Given the description of an element on the screen output the (x, y) to click on. 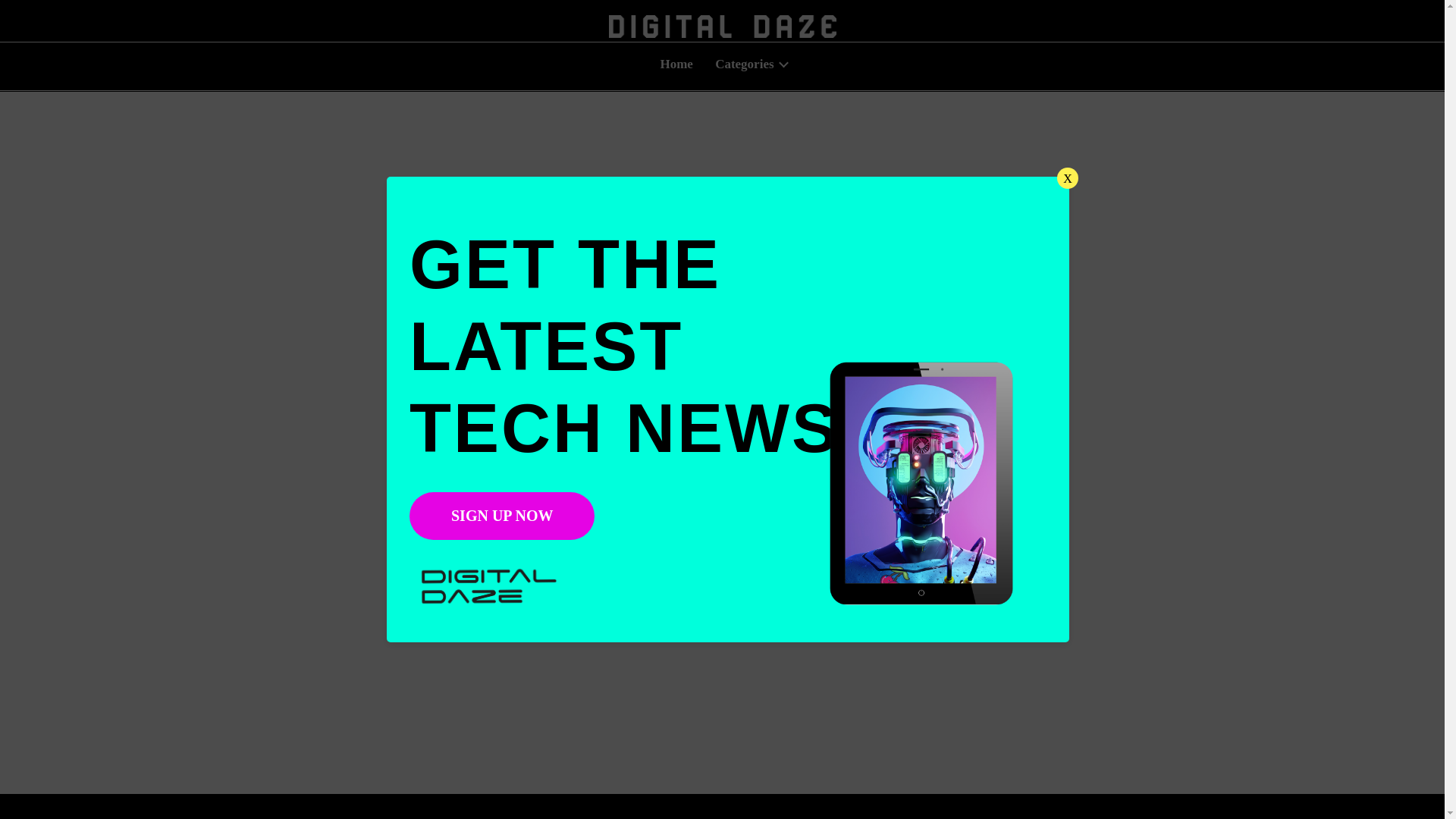
Categories (749, 63)
SIGN UP NOW (501, 515)
Home (676, 63)
Search... (722, 473)
X (1067, 178)
